Given the description of an element on the screen output the (x, y) to click on. 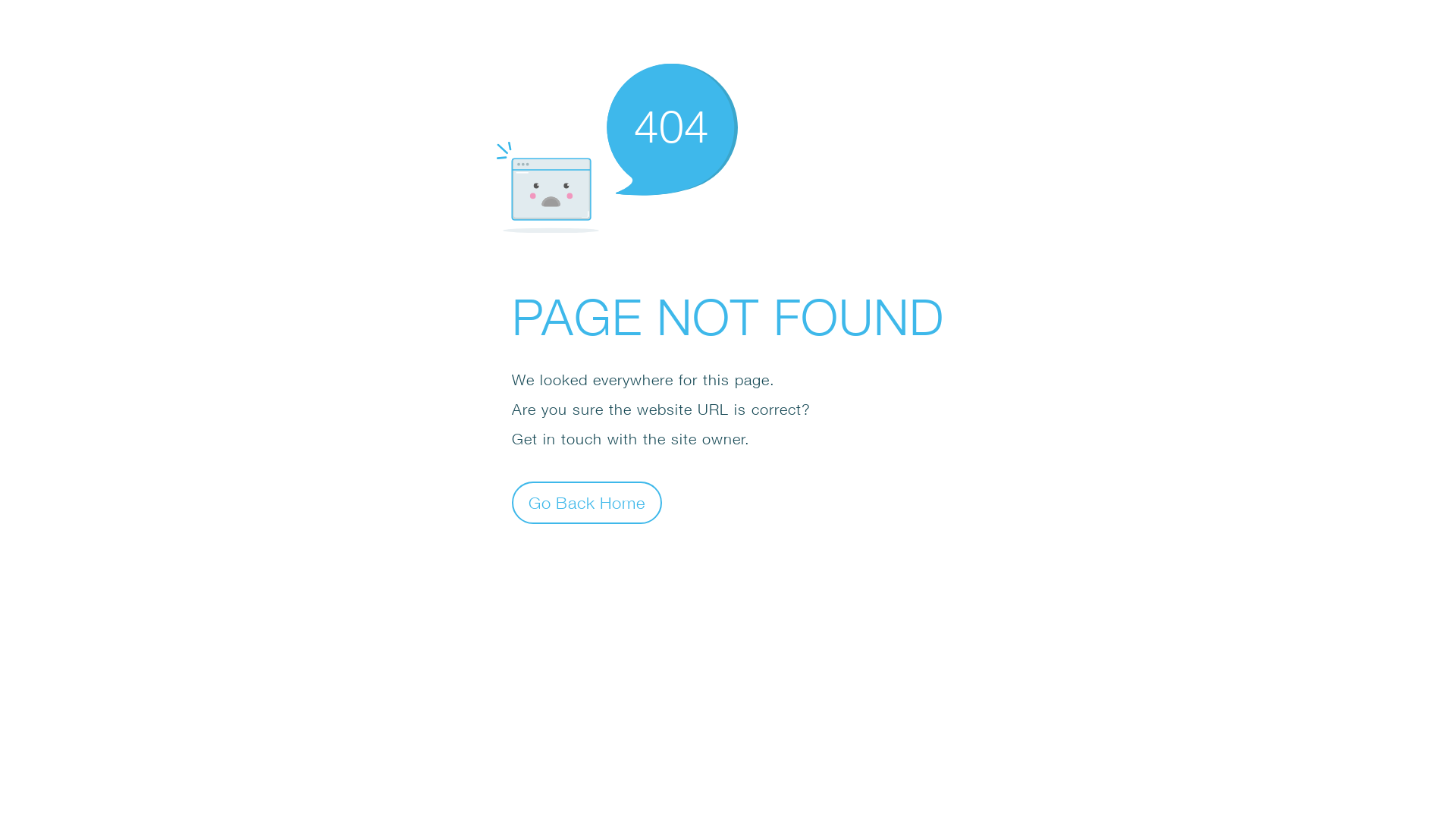
Go Back Home Element type: text (586, 502)
